Given the description of an element on the screen output the (x, y) to click on. 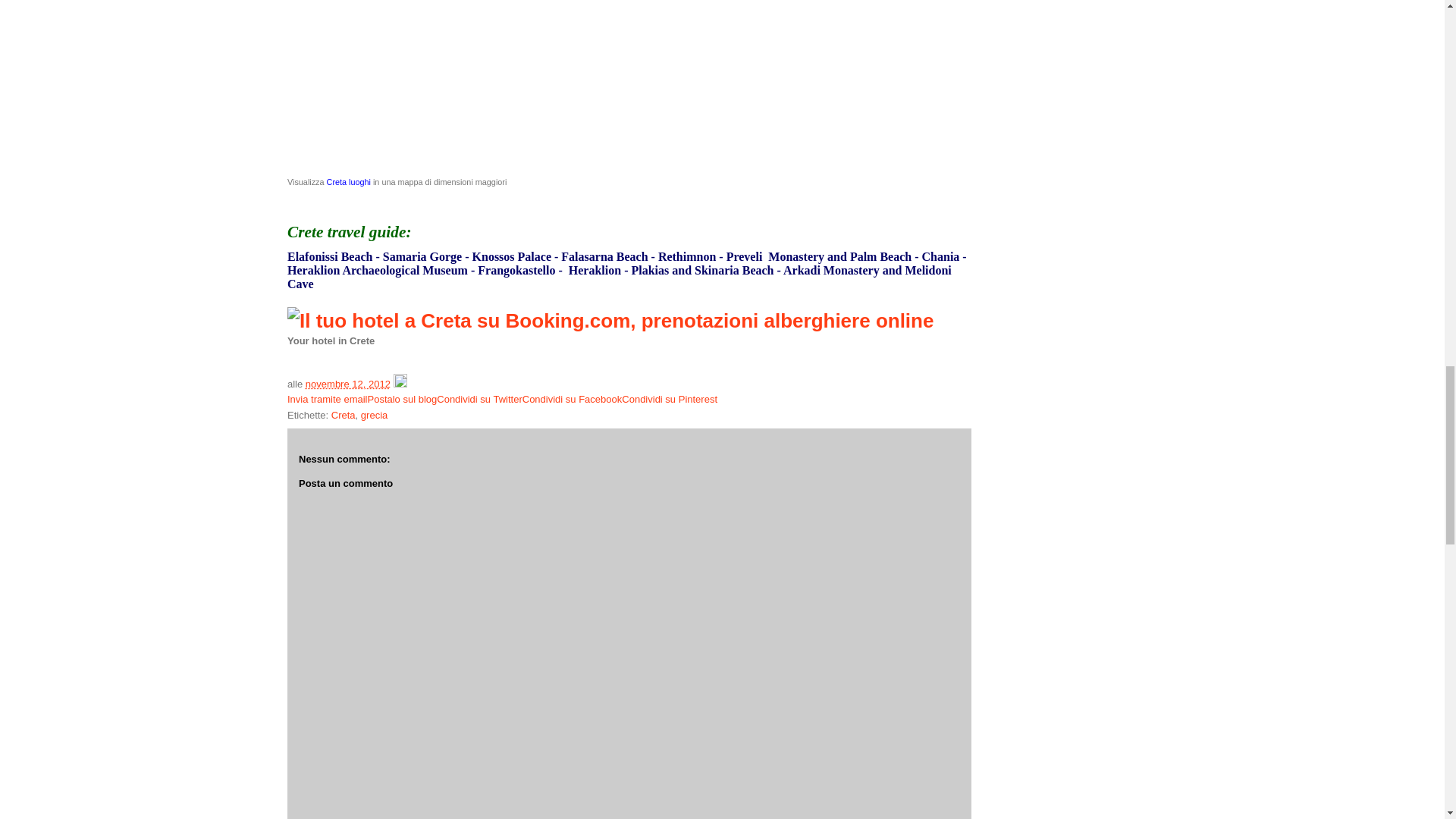
Rethimnon (687, 256)
Arkadi Monastery and Melidoni Cave (619, 276)
Plakias and Skinaria Beach (701, 269)
Condividi su Facebook (572, 398)
Preveli  Monastery and Palm Beach (819, 256)
permanent link (347, 383)
Chania (940, 256)
Modifica post (400, 383)
Elafonissi Beach (329, 256)
Condividi su Twitter (478, 398)
Condividi su Pinterest (669, 398)
Invia tramite email (326, 398)
Falasarna Beach (603, 256)
Creta luoghi (348, 181)
Frangokastello (515, 269)
